Given the description of an element on the screen output the (x, y) to click on. 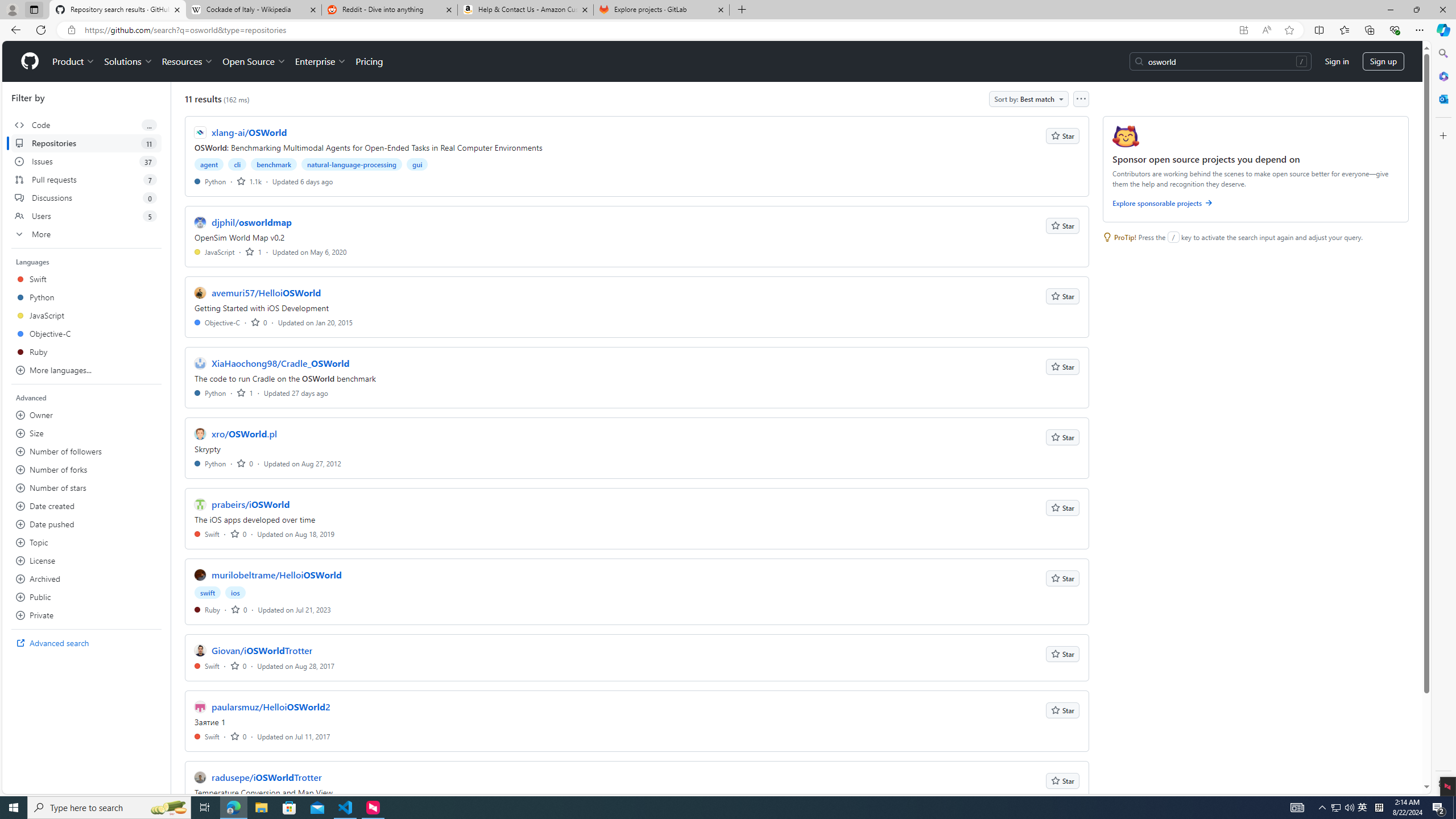
benchmark (273, 164)
More languages... (86, 370)
Objective-C (217, 321)
Giovan/iOSWorldTrotter (262, 650)
gui (417, 164)
cli (237, 164)
Close Outlook pane (1442, 98)
Close tab (720, 9)
Copilot (Ctrl+Shift+.) (1442, 29)
Product (74, 60)
